Given the description of an element on the screen output the (x, y) to click on. 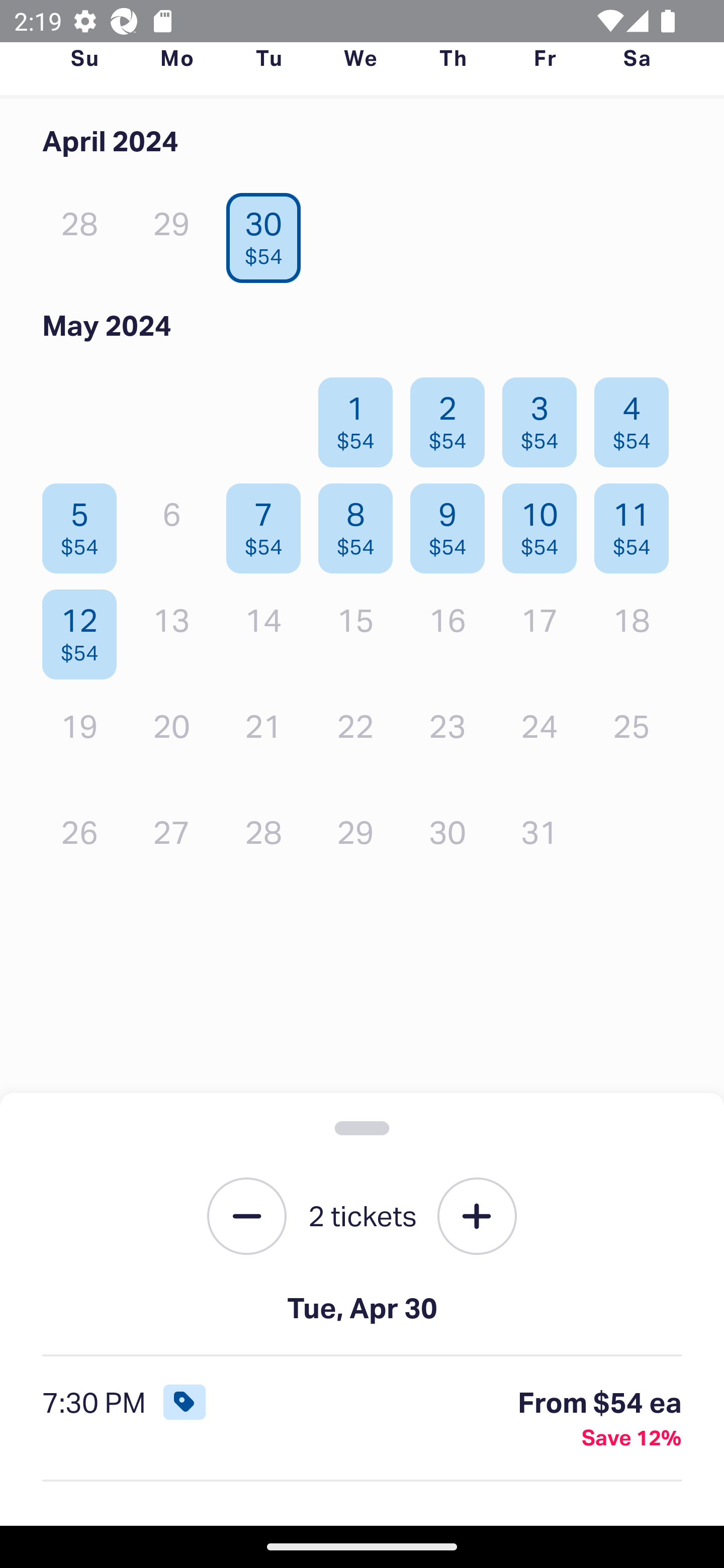
30 $54 (268, 232)
1 $54 (360, 417)
2 $54 (452, 417)
3 $54 (544, 417)
4 $54 (636, 417)
5 $54 (84, 524)
7 $54 (268, 524)
8 $54 (360, 524)
9 $54 (452, 524)
10 $54 (544, 524)
11 $54 (636, 524)
12 $54 (84, 629)
7:30 PM From $54 ea Save 12% (361, 1418)
